Given the description of an element on the screen output the (x, y) to click on. 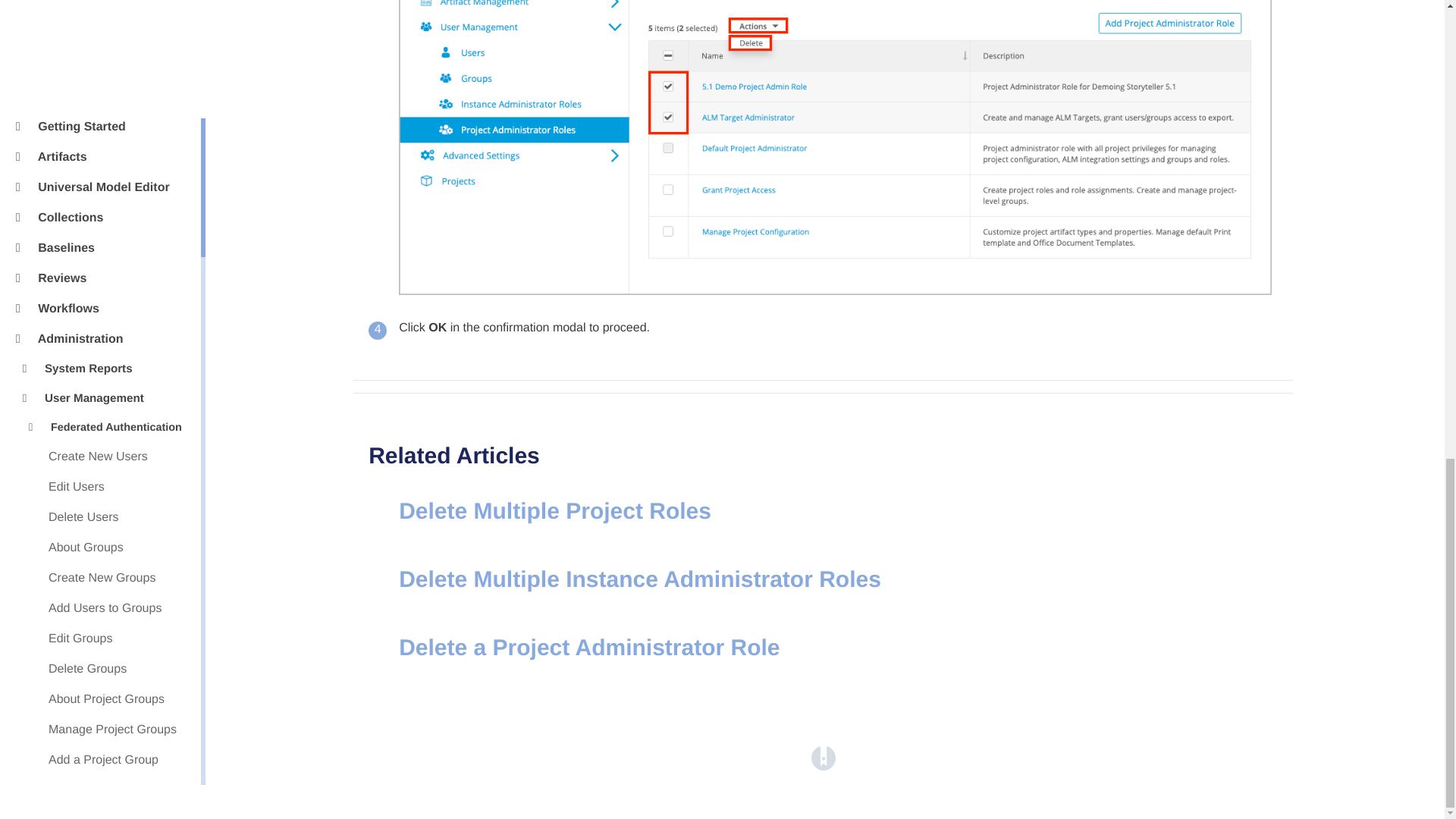
Powered by HelpDocs (822, 758)
